Given the description of an element on the screen output the (x, y) to click on. 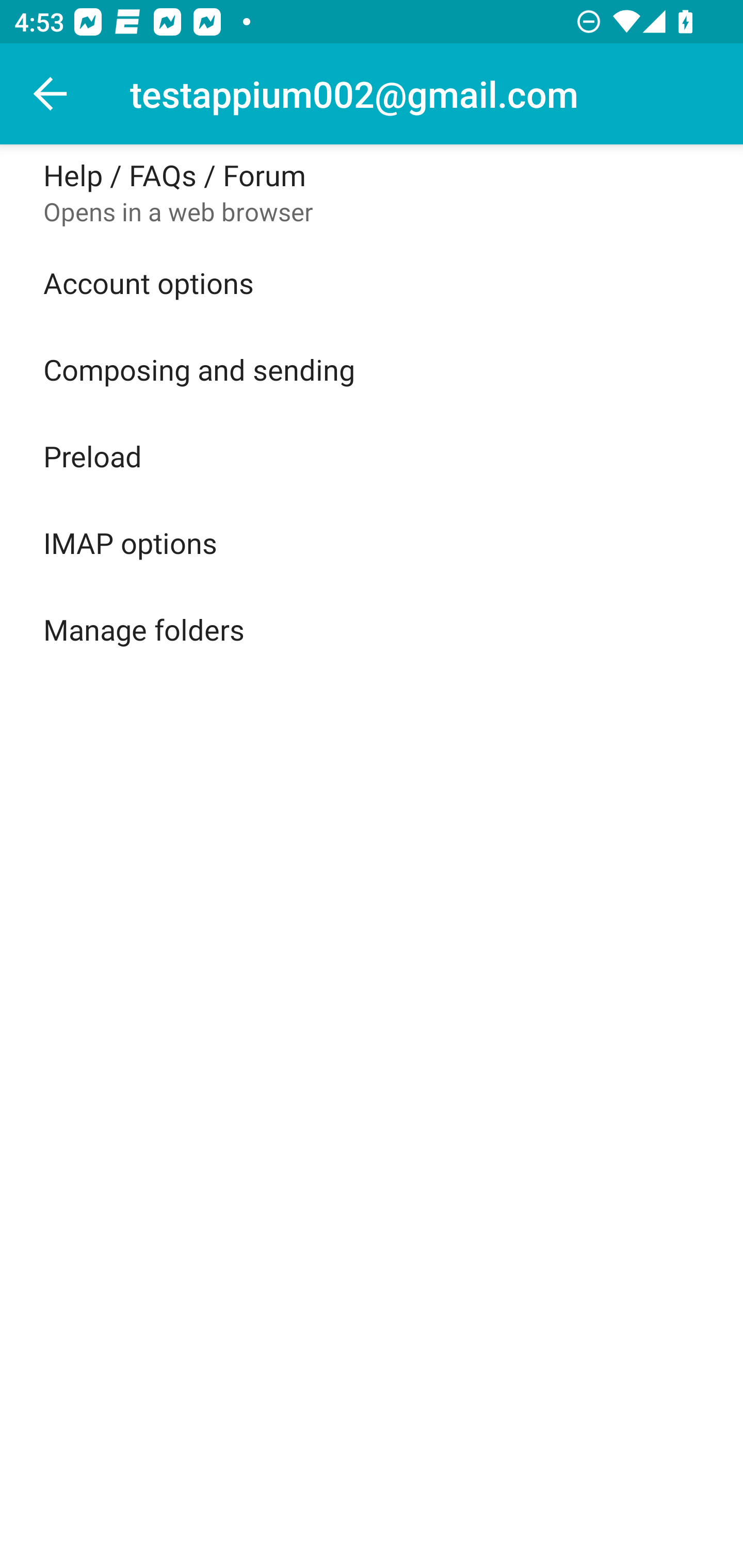
Navigate up (50, 93)
Help / FAQs / Forum Opens in a web browser (371, 191)
Account options (371, 282)
Composing and sending (371, 369)
Preload (371, 455)
IMAP options (371, 542)
Manage folders (371, 629)
